Given the description of an element on the screen output the (x, y) to click on. 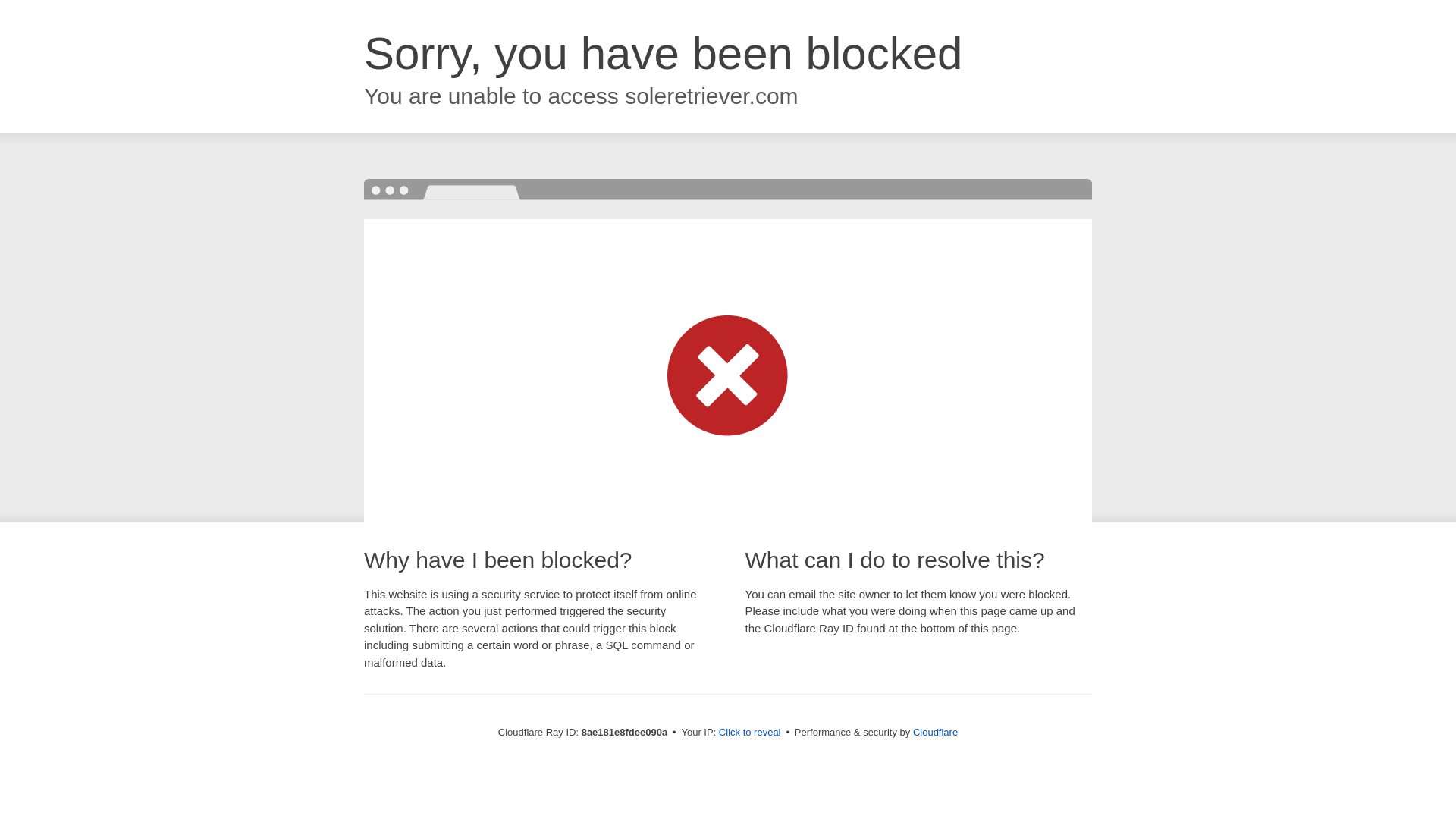
Click to reveal (749, 732)
Cloudflare (935, 731)
